Given the description of an element on the screen output the (x, y) to click on. 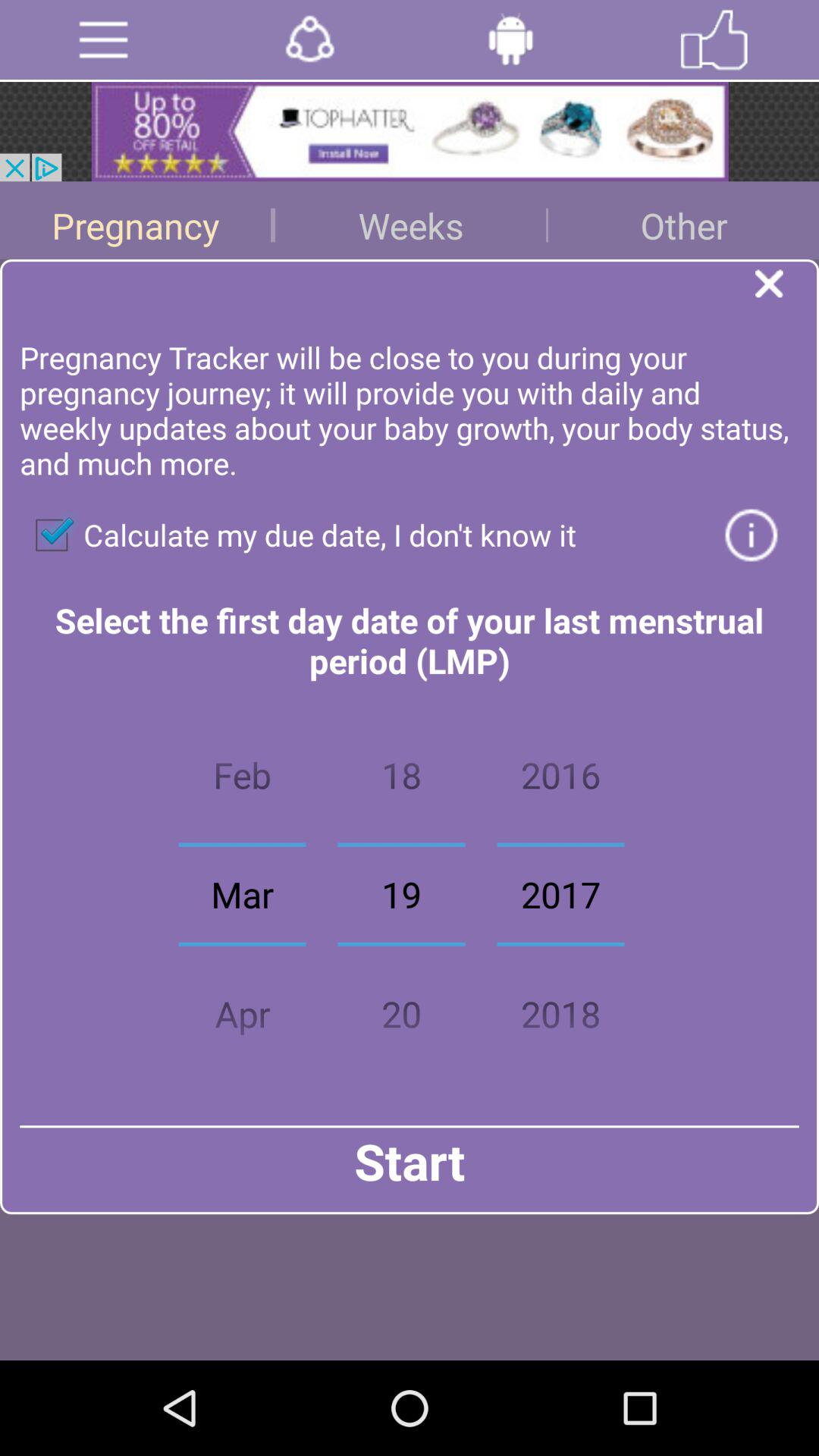
close the page (787, 288)
